Given the description of an element on the screen output the (x, y) to click on. 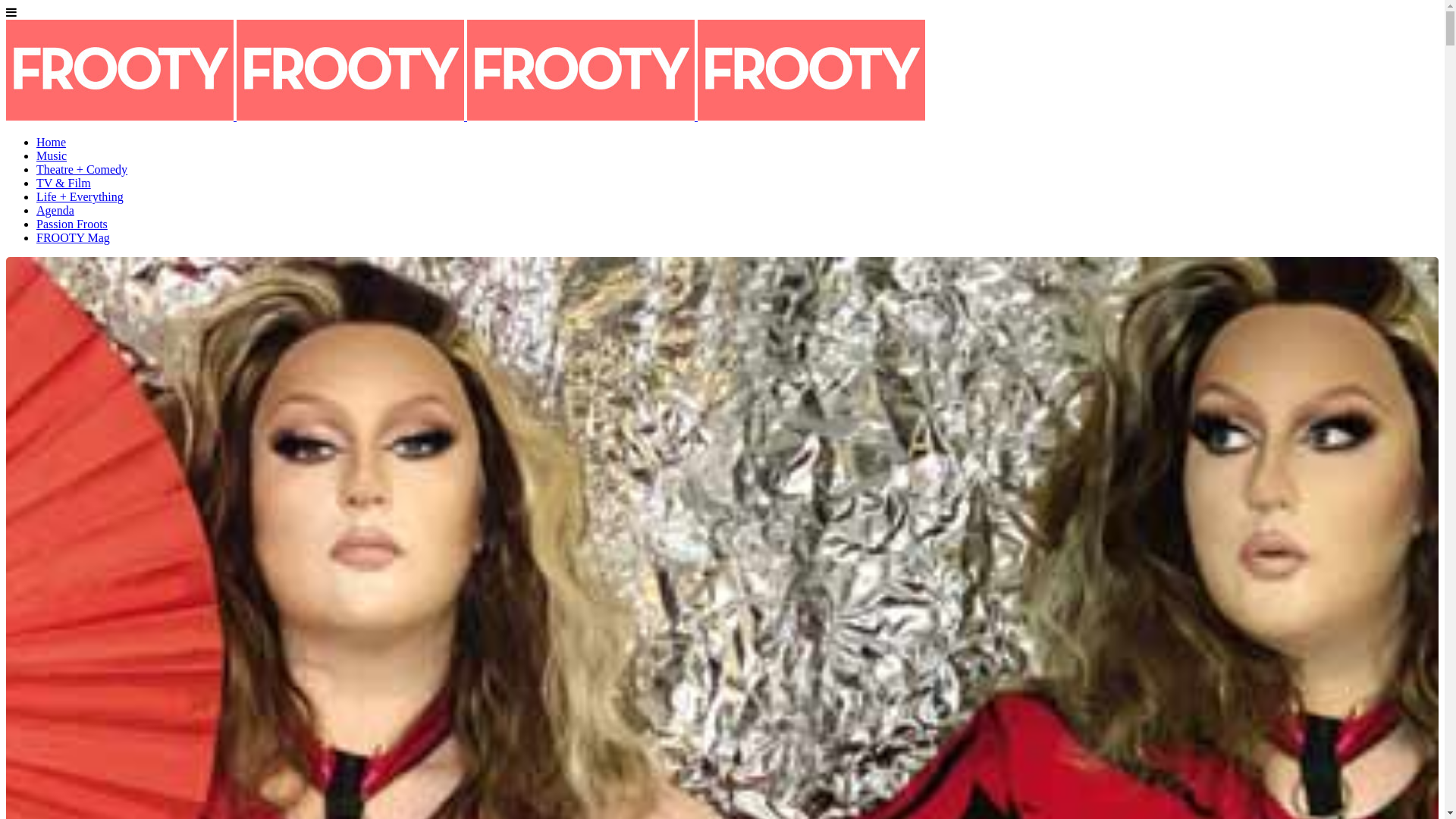
TV & Film Element type: text (63, 182)
Passion Froots Element type: text (71, 223)
FROOTY Mag Element type: text (72, 237)
Theatre + Comedy Element type: text (81, 169)
Music Element type: text (51, 155)
Life + Everything Element type: text (79, 196)
FROOTY Element type: hover (465, 115)
Home Element type: text (50, 141)
Agenda Element type: text (55, 209)
